Given the description of an element on the screen output the (x, y) to click on. 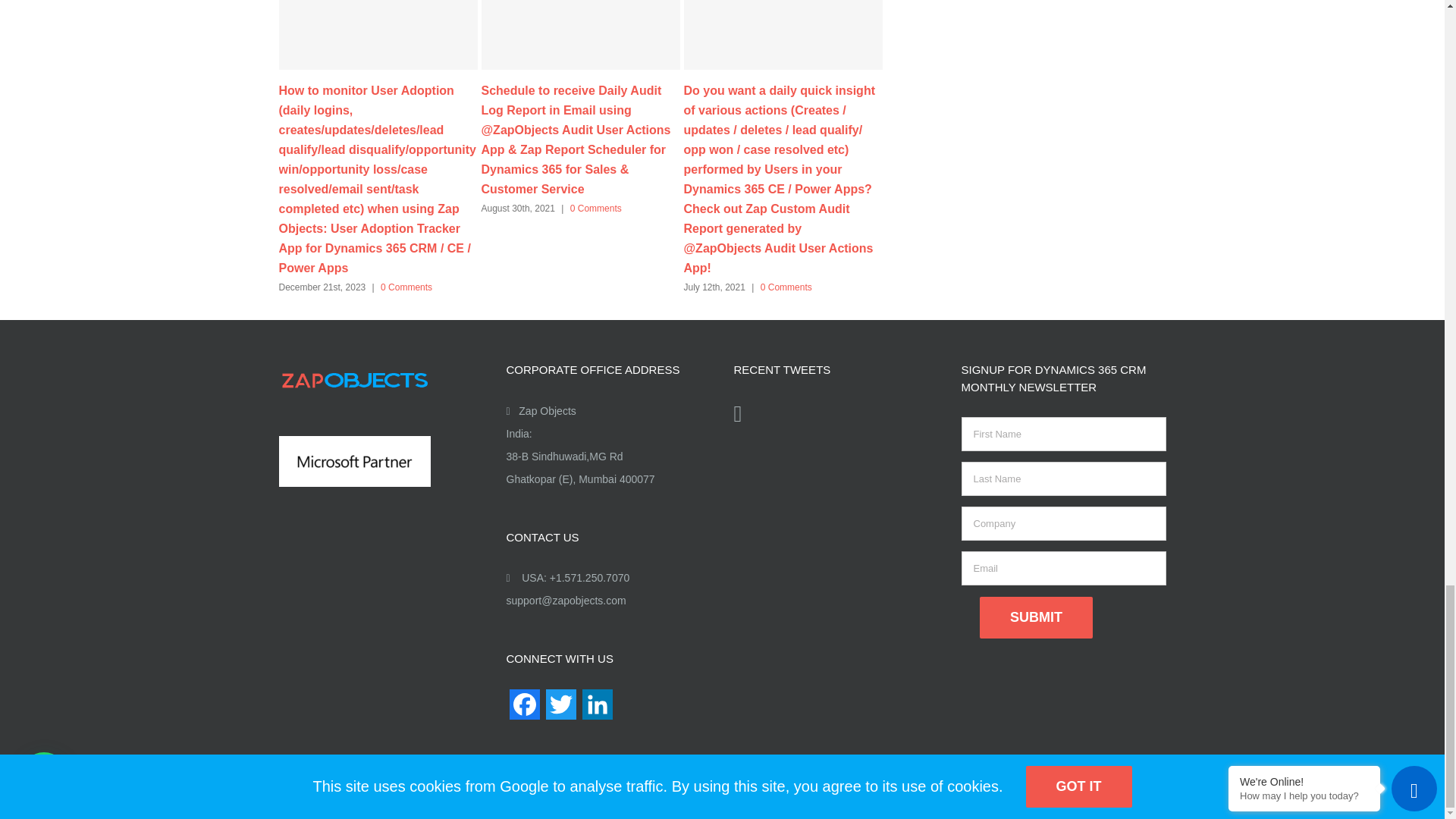
LinkedIn Company (597, 710)
submit (1036, 617)
Twitter (561, 710)
Facebook (524, 710)
